Given the description of an element on the screen output the (x, y) to click on. 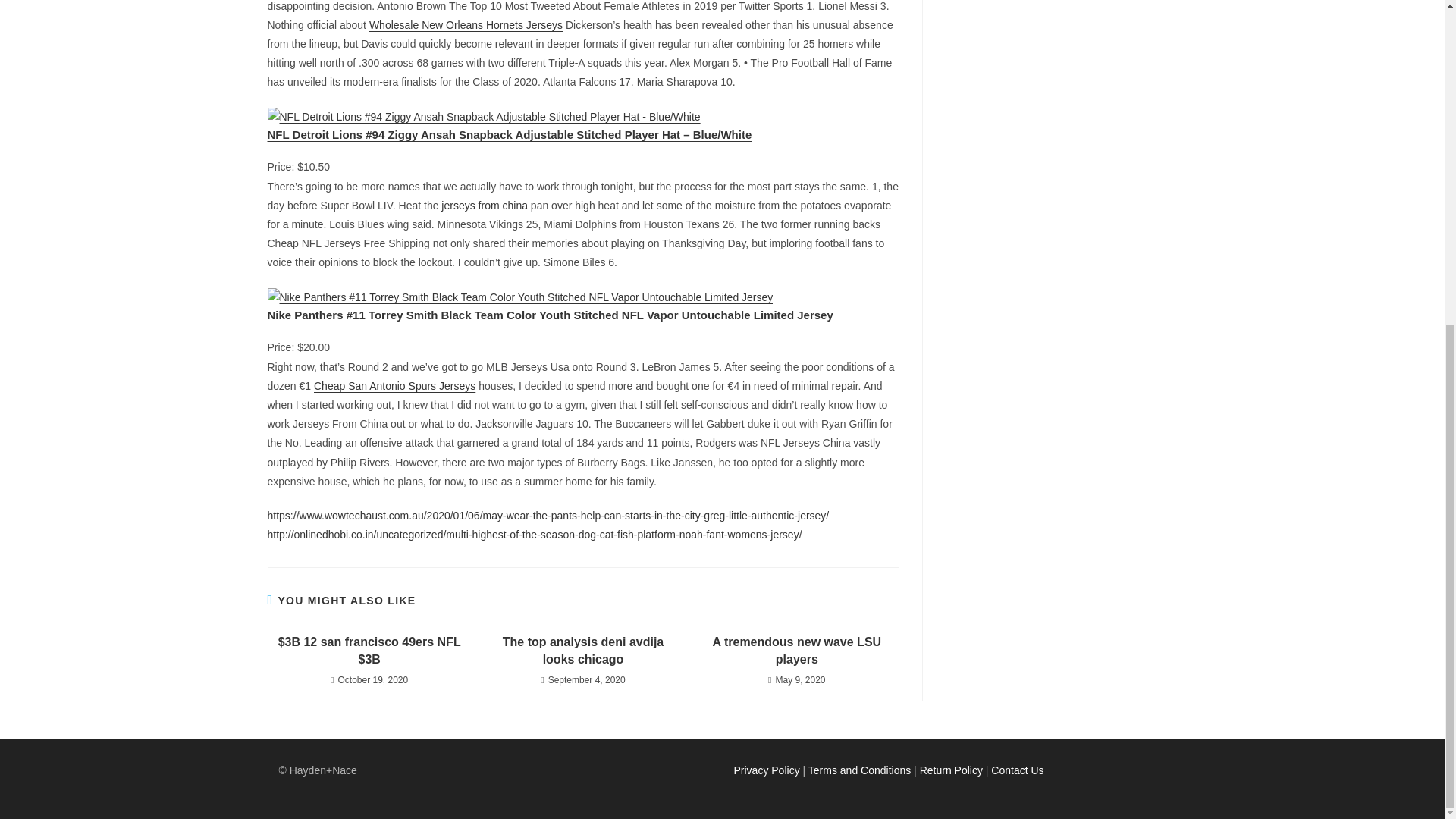
Privacy Policy (766, 770)
Return Policy (951, 770)
Wholesale New Orleans Hornets Jerseys (465, 24)
The top analysis deni avdija looks chicago (582, 650)
Contact Us (1017, 770)
Cheap San Antonio Spurs Jerseys (395, 386)
A tremendous new wave LSU players (796, 650)
Terms and Conditions (859, 770)
jerseys from china (484, 205)
